Given the description of an element on the screen output the (x, y) to click on. 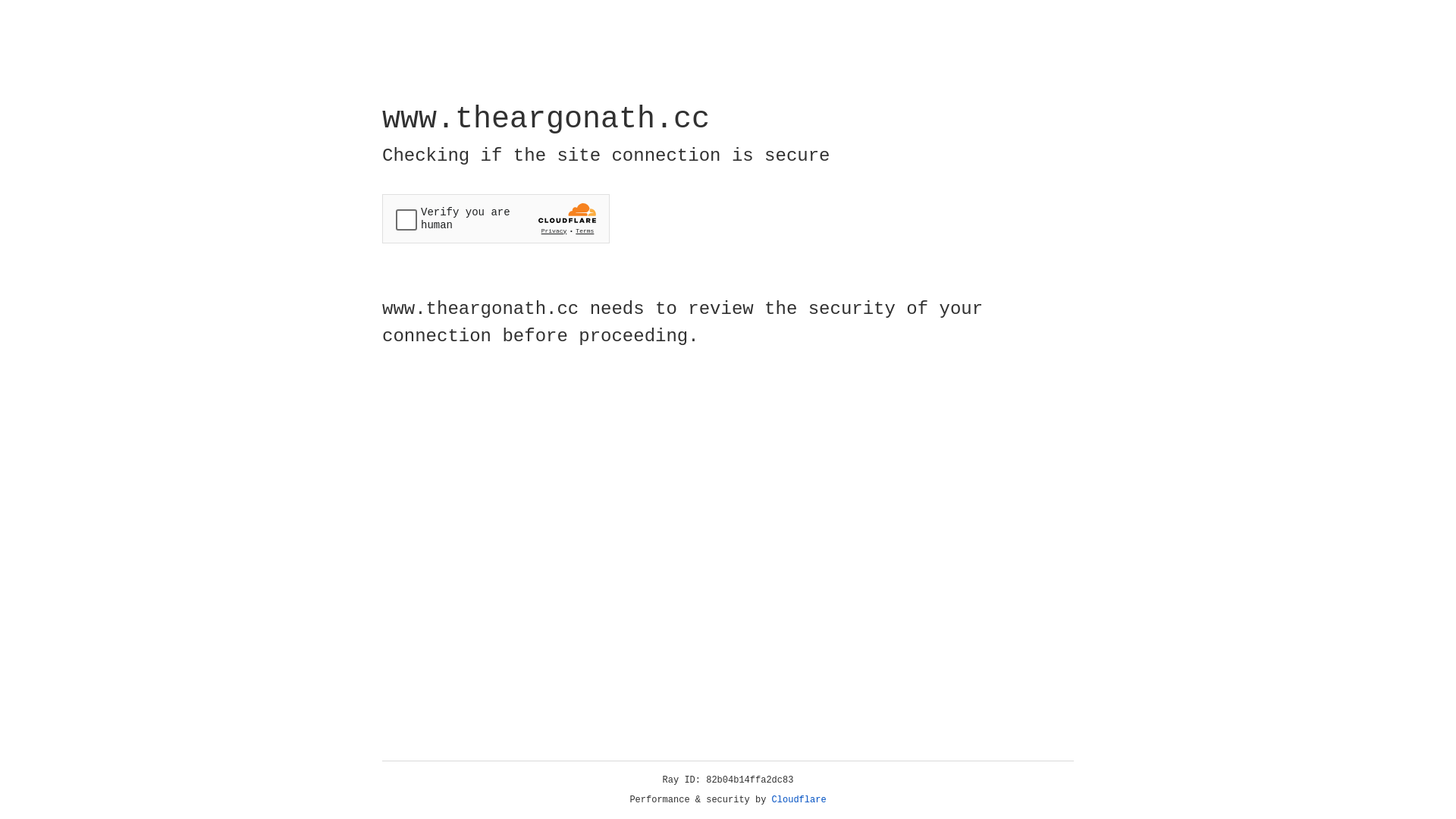
Widget containing a Cloudflare security challenge Element type: hover (495, 218)
Cloudflare Element type: text (798, 799)
